Given the description of an element on the screen output the (x, y) to click on. 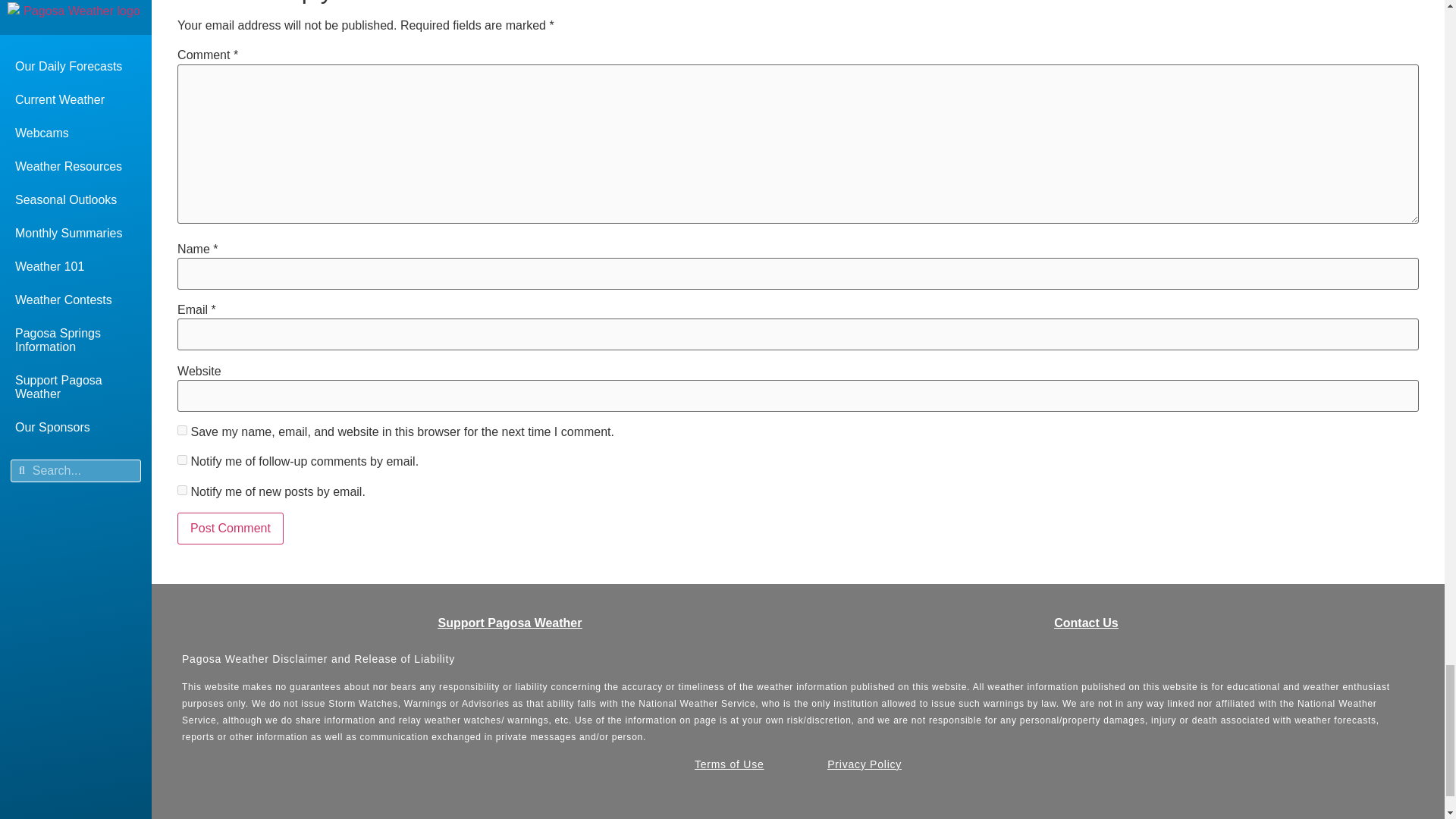
Post Comment (230, 528)
subscribe (182, 490)
subscribe (182, 460)
yes (182, 429)
